Given the description of an element on the screen output the (x, y) to click on. 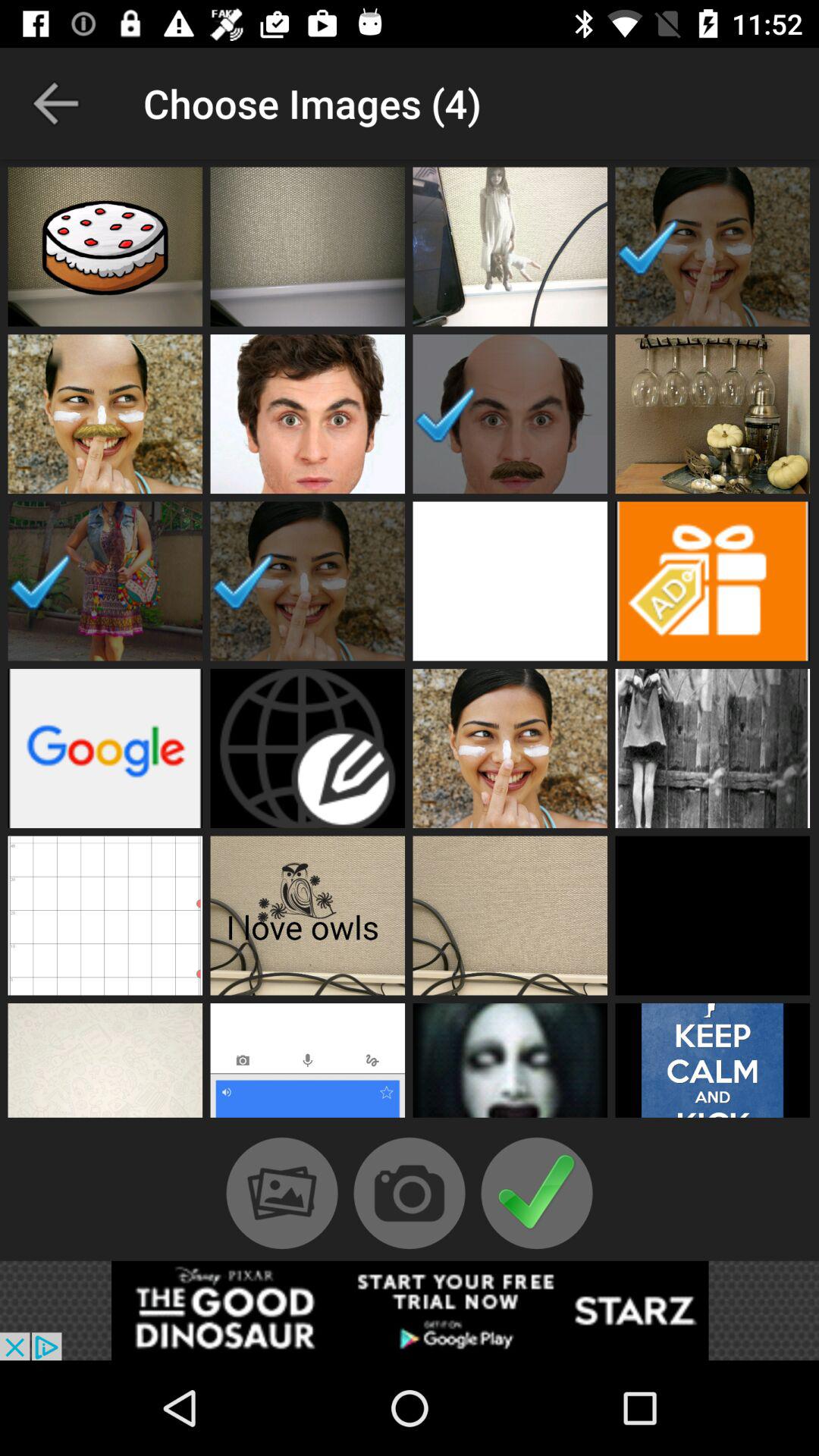
select the image to use (712, 580)
